Given the description of an element on the screen output the (x, y) to click on. 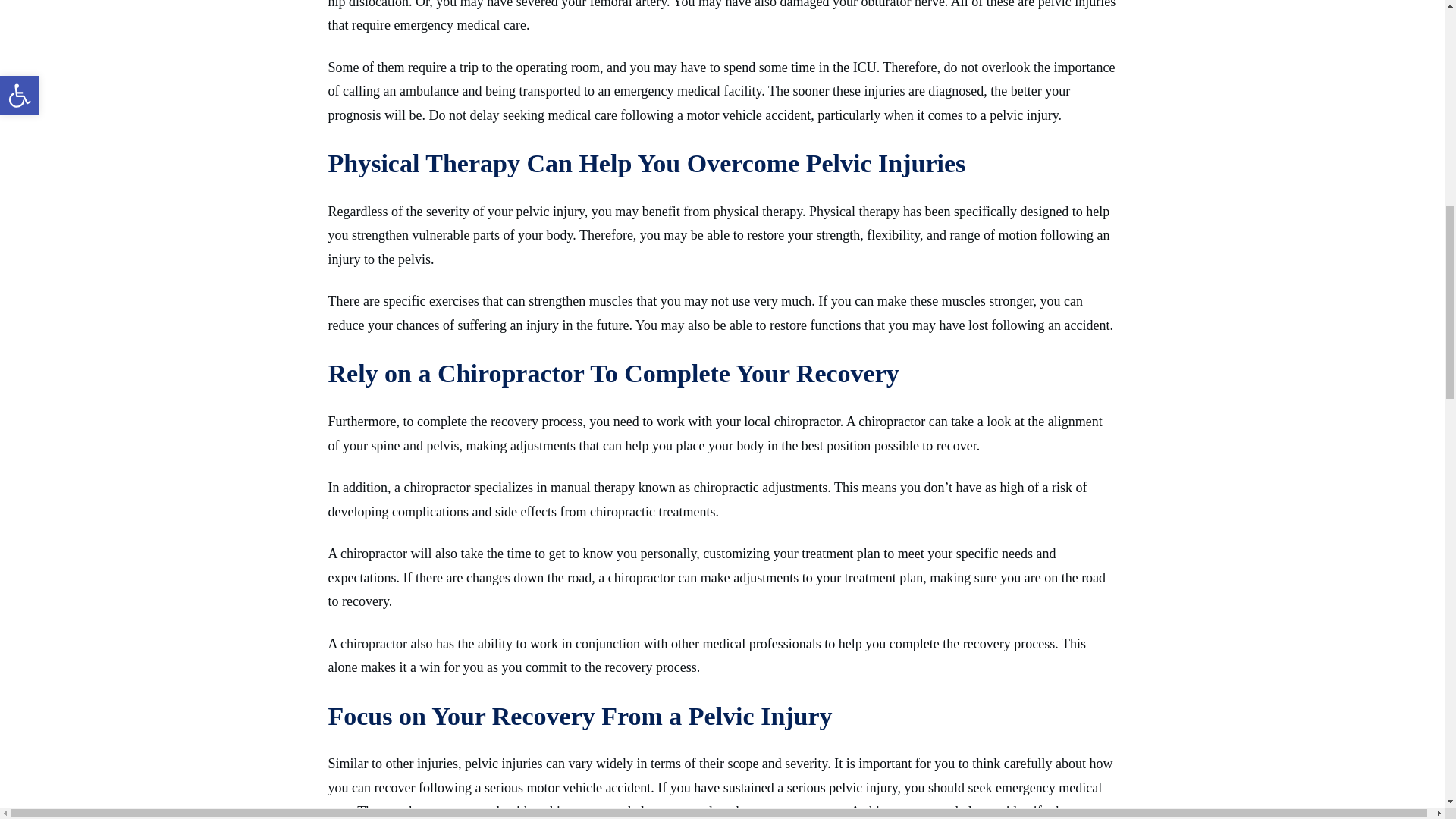
pelvic (480, 763)
